Given the description of an element on the screen output the (x, y) to click on. 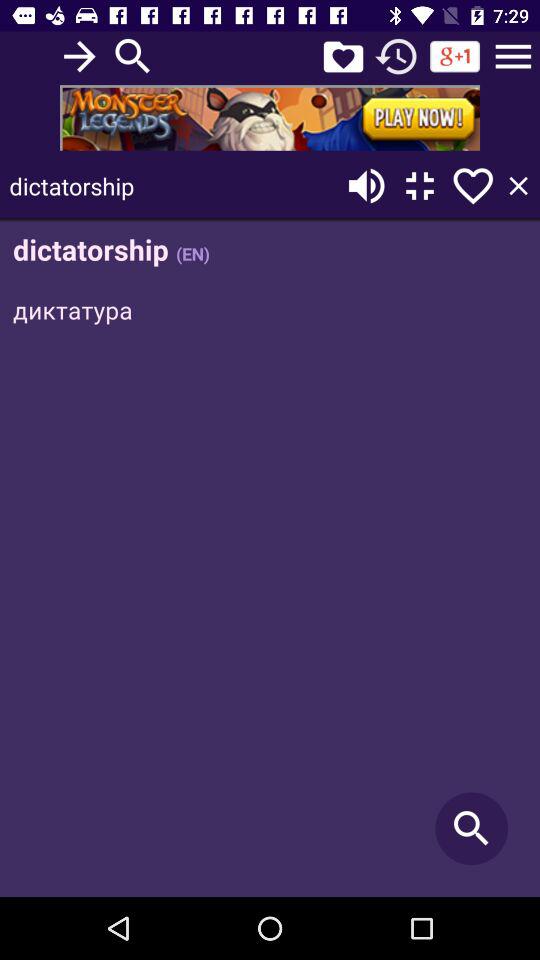
show favorite list (343, 56)
